Given the description of an element on the screen output the (x, y) to click on. 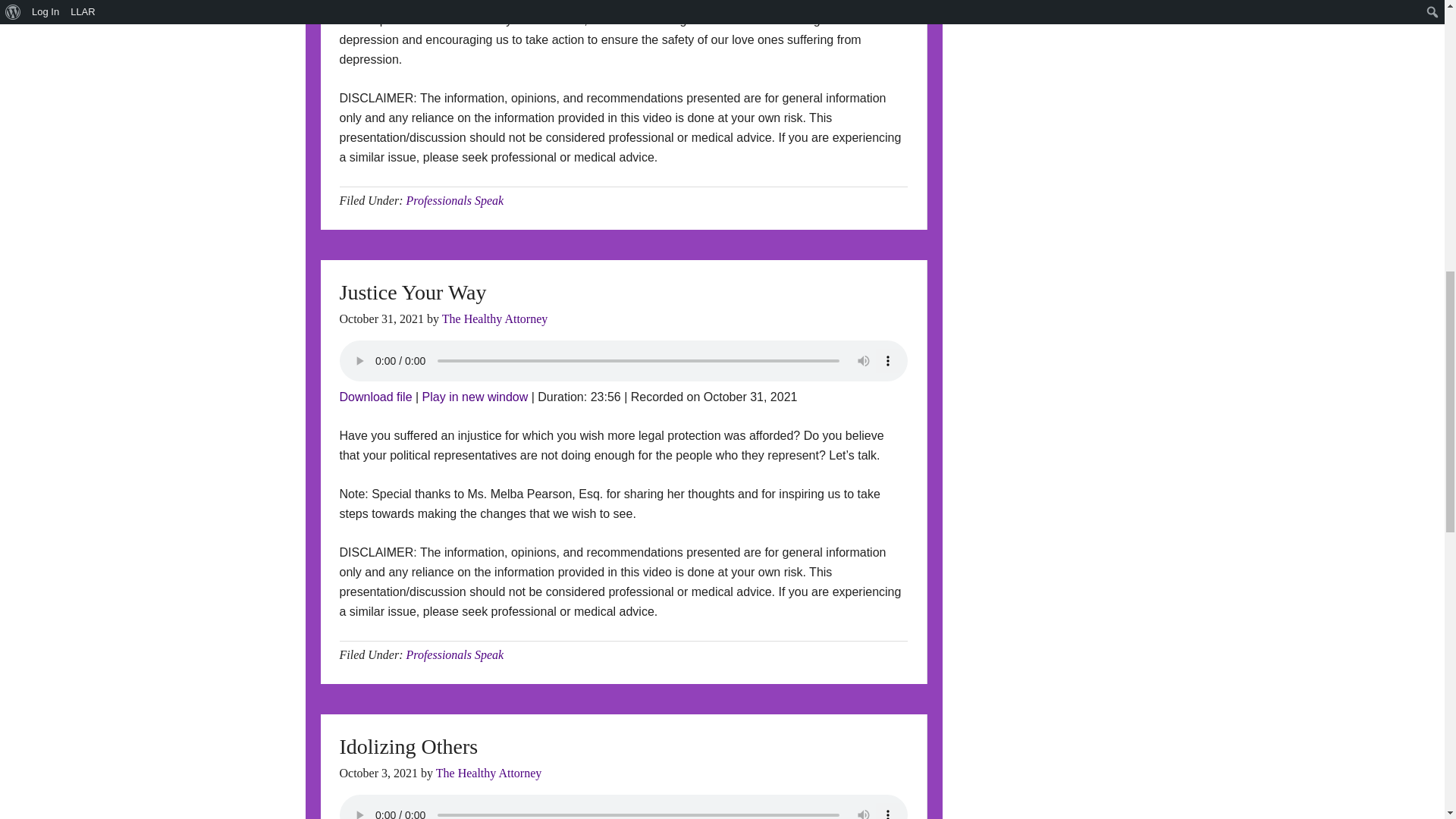
Justice Your Way  (375, 396)
Play in new window (475, 396)
Professionals Speak (454, 200)
Download file (375, 396)
Justice Your Way  (475, 396)
The Healthy Attorney (495, 318)
Justice Your Way (412, 291)
